Given the description of an element on the screen output the (x, y) to click on. 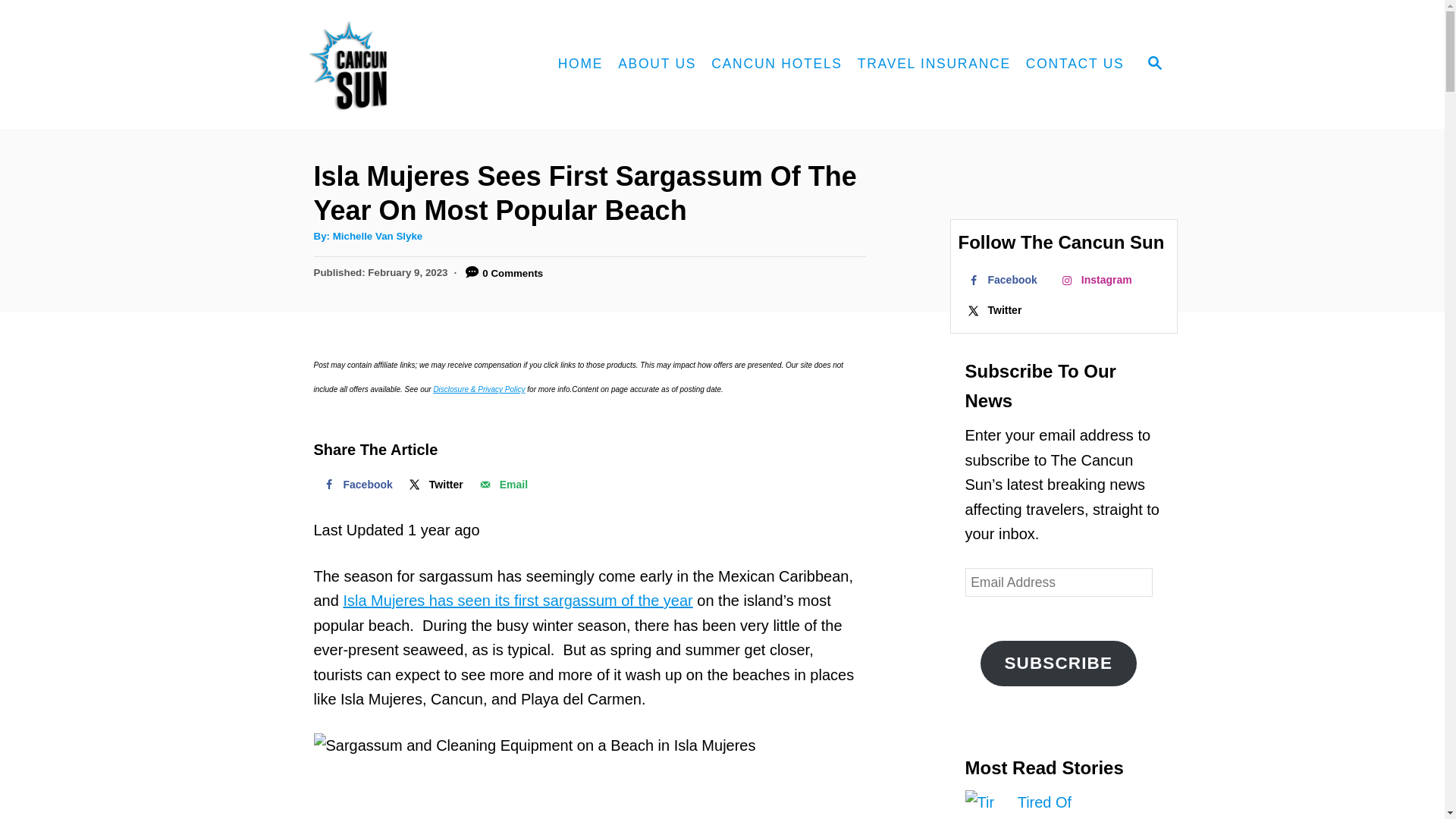
ABOUT US (656, 64)
SEARCH (1153, 63)
Instagram (1099, 279)
Twitter (434, 484)
Facebook (356, 484)
CONTACT US (1074, 64)
Facebook (1004, 279)
Follow on X (997, 309)
CANCUN HOTELS (776, 64)
Share on X (434, 484)
SUBSCRIBE (1058, 663)
Email (502, 484)
Michelle Van Slyke (378, 235)
